Given the description of an element on the screen output the (x, y) to click on. 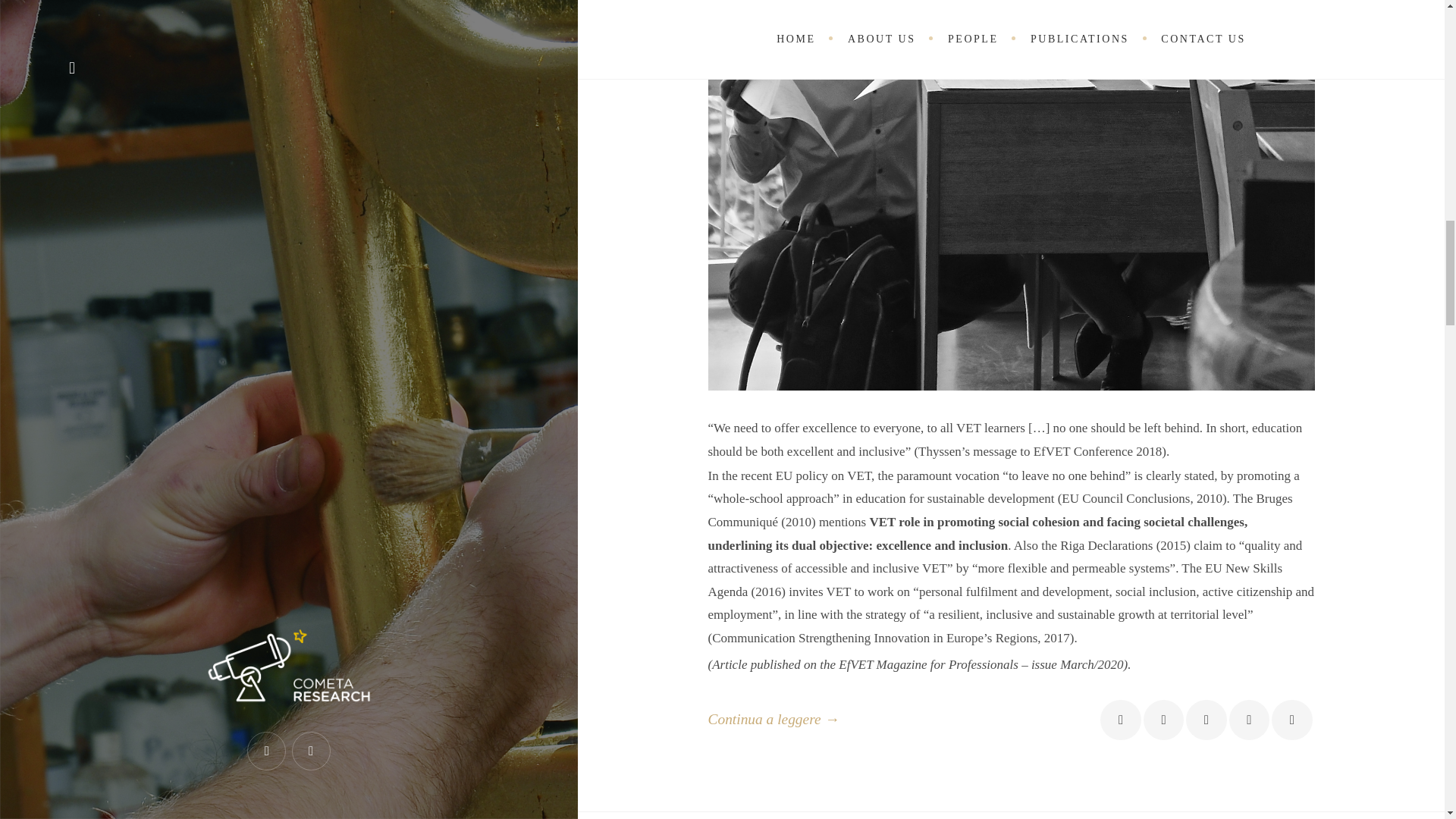
Pin It (1248, 720)
Tweet It (1162, 720)
Condividi su Google Plus (1205, 720)
Condividi su Tumblr (1291, 720)
Condividi su Facebook (1120, 720)
